Given the description of an element on the screen output the (x, y) to click on. 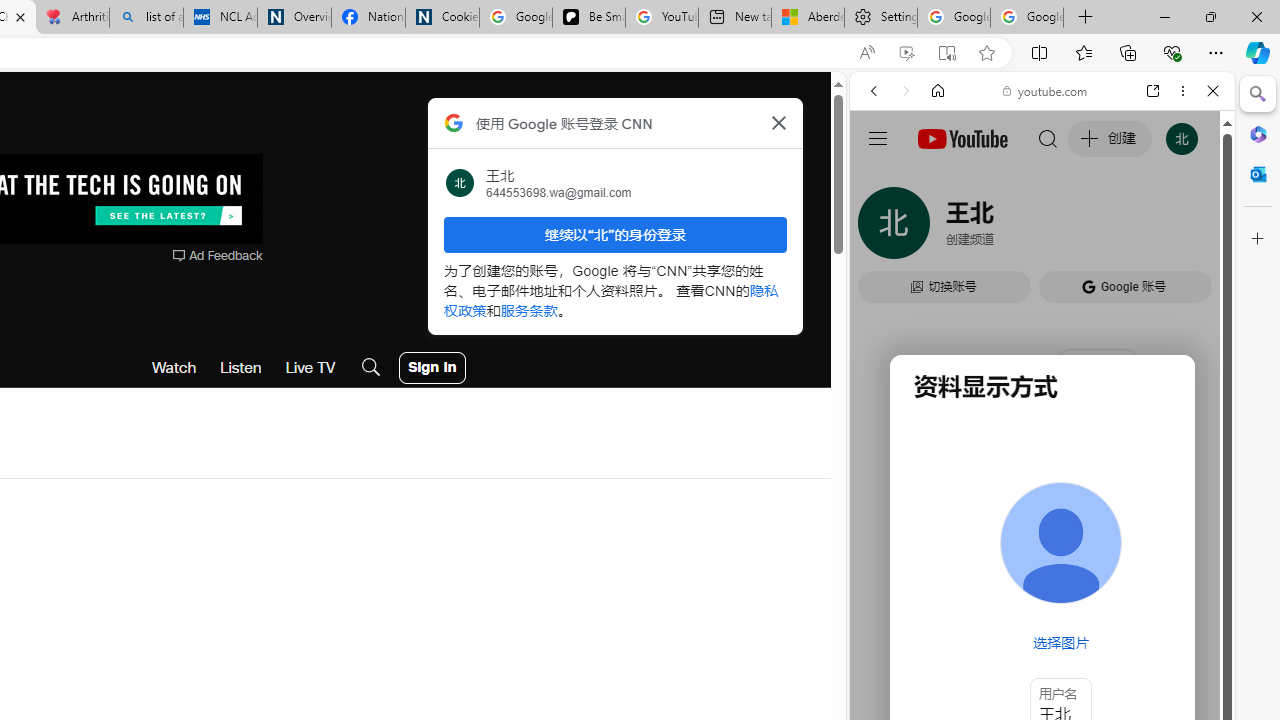
Music (1042, 543)
Trailer #2 [HD] (1042, 592)
Search the web (1051, 137)
#you (1042, 445)
Aberdeen, Hong Kong SAR hourly forecast | Microsoft Weather (807, 17)
YouTube (1034, 296)
Watch (174, 367)
